Given the description of an element on the screen output the (x, y) to click on. 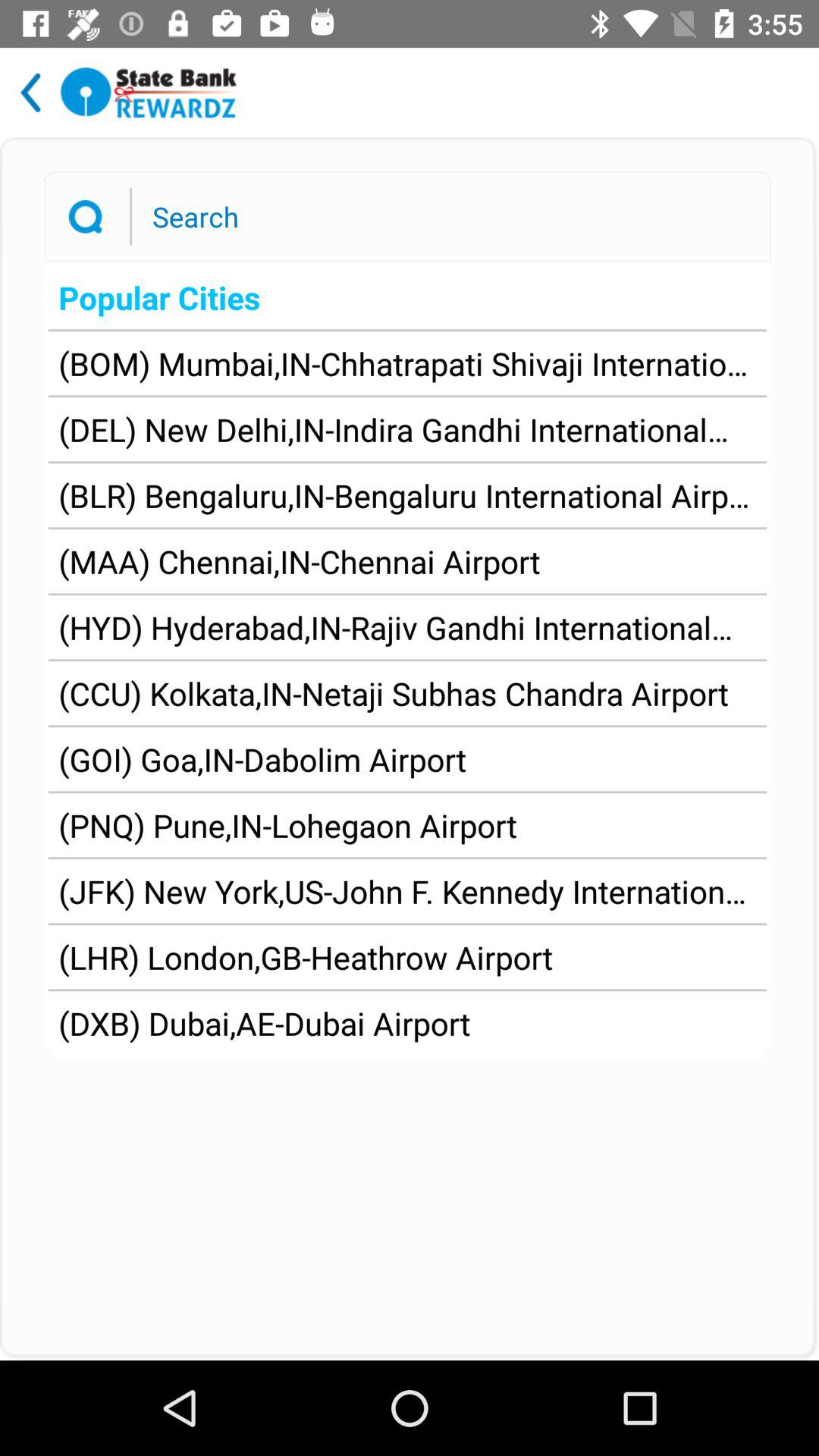
open pnq pune in icon (287, 824)
